Given the description of an element on the screen output the (x, y) to click on. 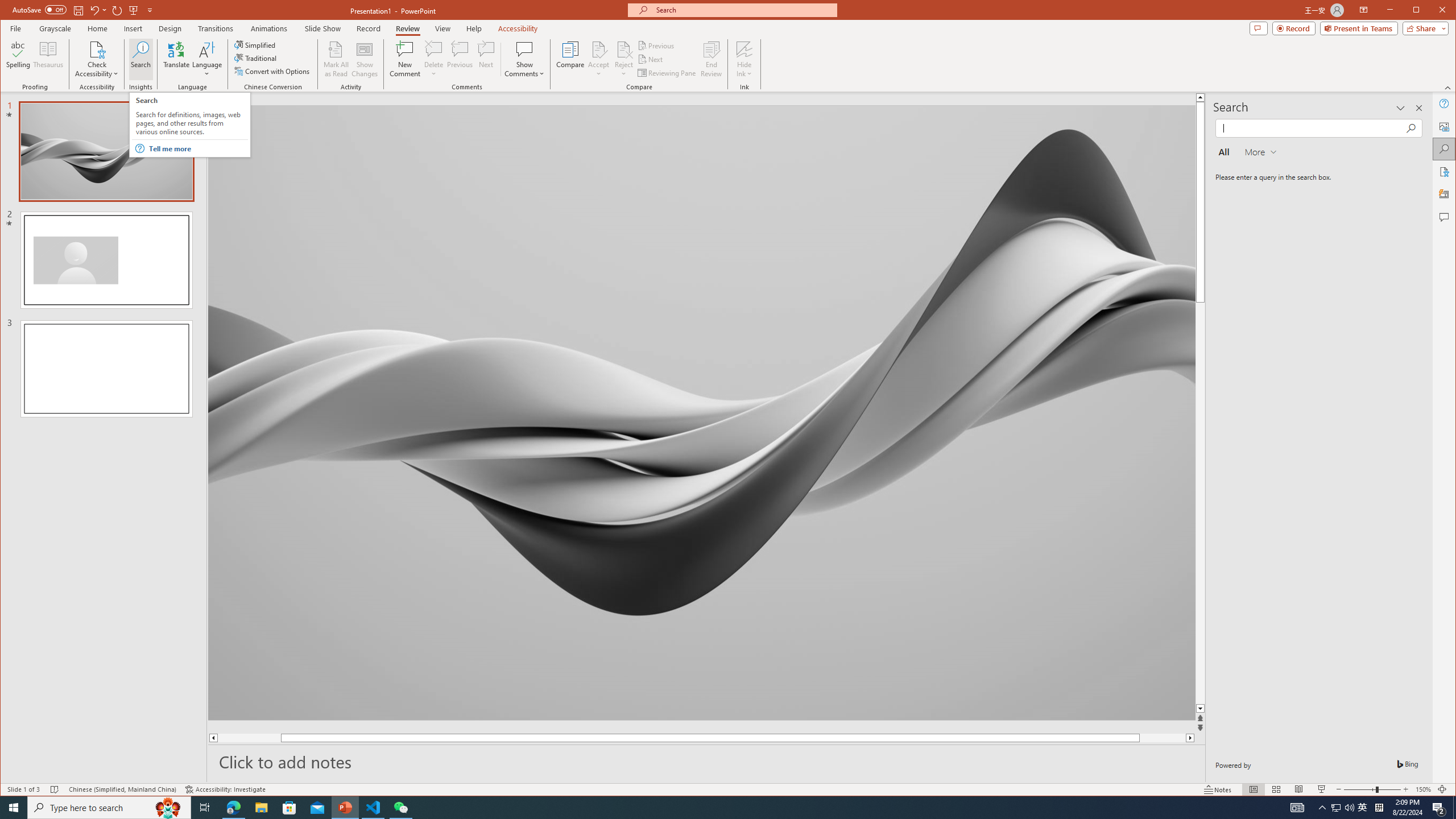
Delete (433, 48)
Reviewing Pane (667, 72)
Grayscale (55, 28)
Line down (1263, 709)
Wavy 3D art (701, 412)
PowerPoint - 1 running window (345, 807)
